Given the description of an element on the screen output the (x, y) to click on. 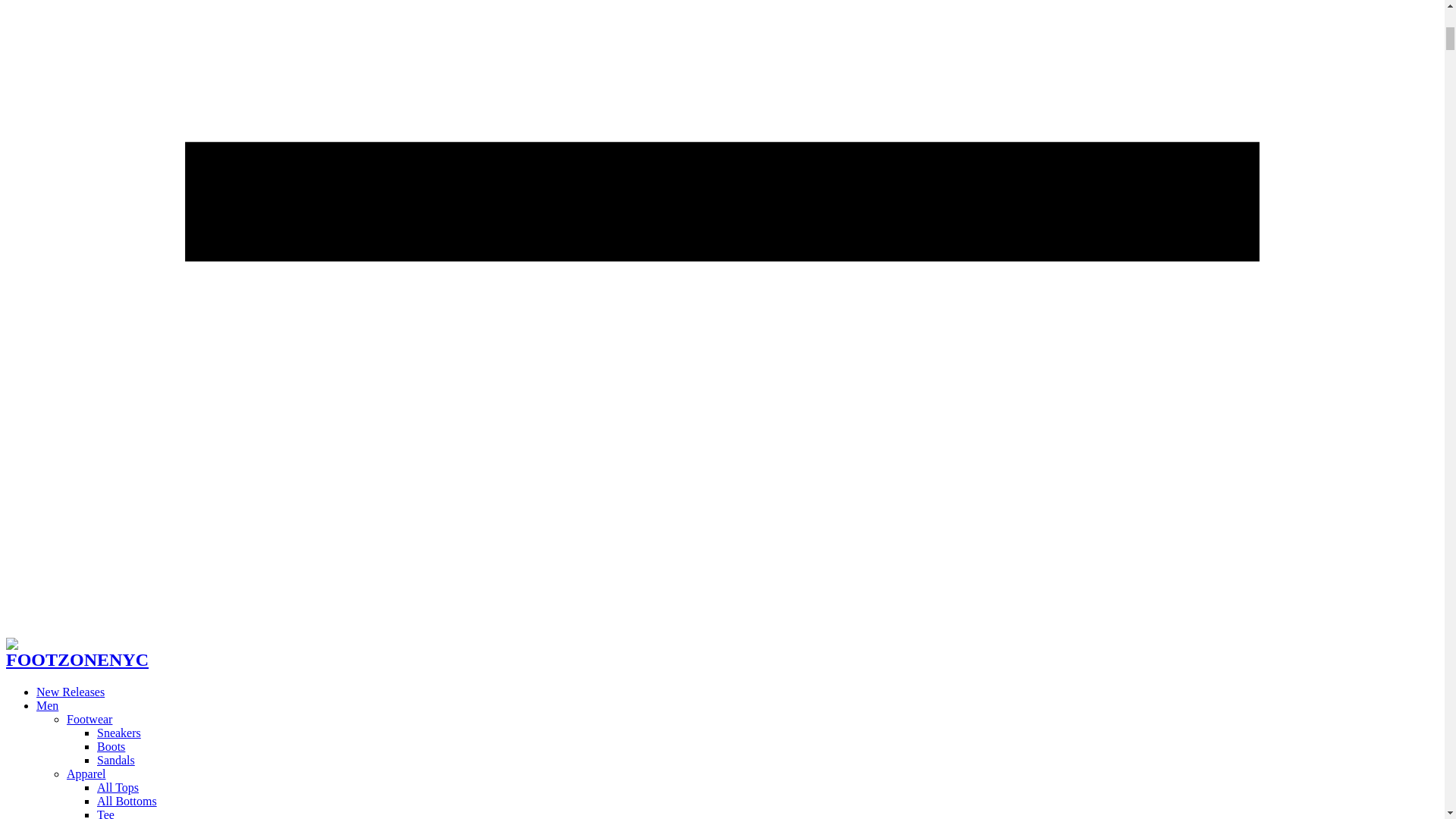
Footwear (89, 718)
Apparel (86, 773)
All Bottoms (127, 800)
Sandals (116, 759)
Tee (106, 813)
New Releases (70, 691)
Boots (111, 746)
All Tops (117, 787)
Sneakers (119, 732)
Men (47, 705)
